Given the description of an element on the screen output the (x, y) to click on. 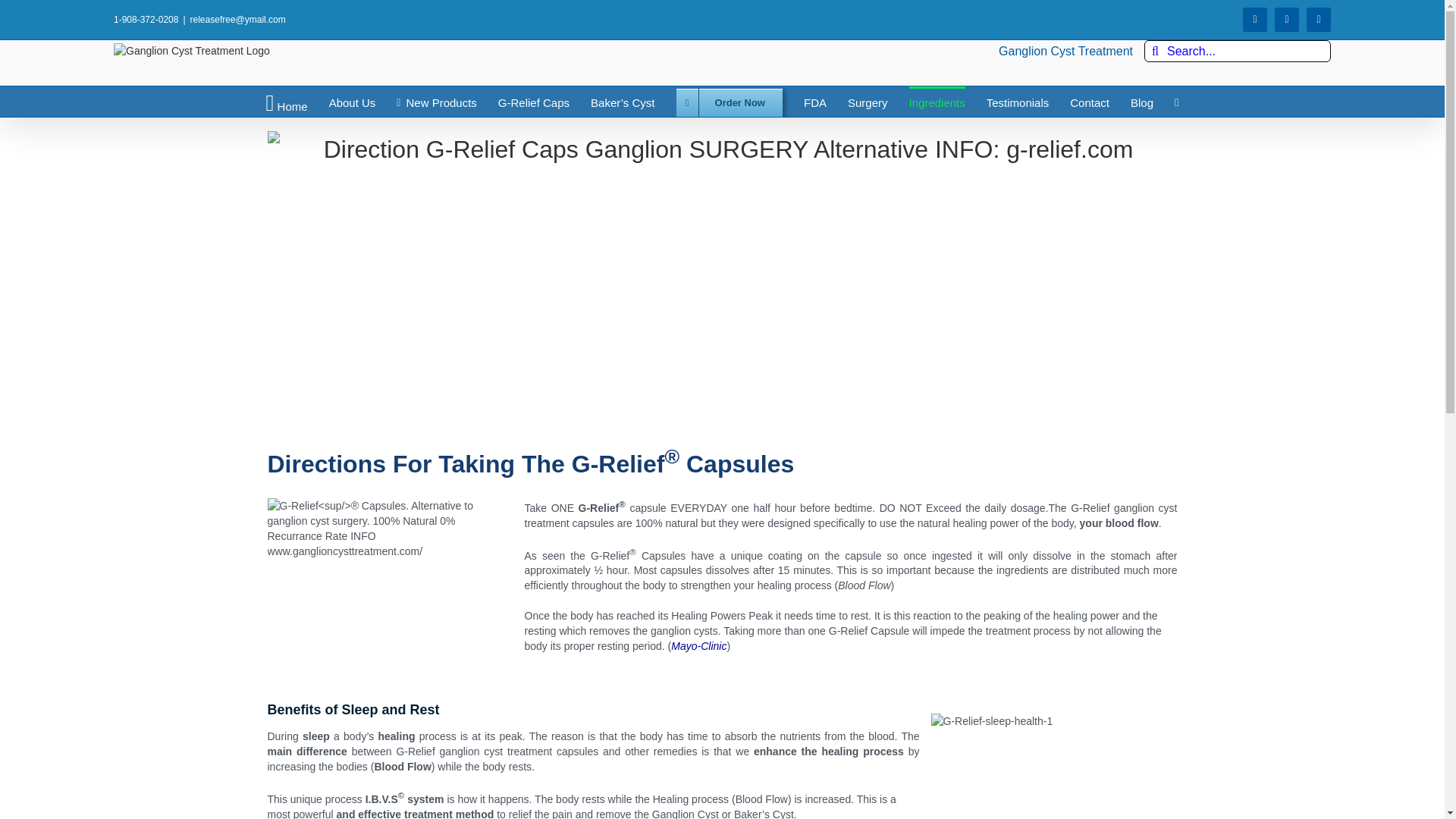
Buy G-Relief Now (730, 101)
Home (285, 101)
Ganglion Cyst (285, 101)
Email (1318, 19)
Email (1318, 19)
YouTube (1286, 19)
New Products (436, 101)
Facebook (1254, 19)
Facebook (1254, 19)
About Us (352, 101)
